Given the description of an element on the screen output the (x, y) to click on. 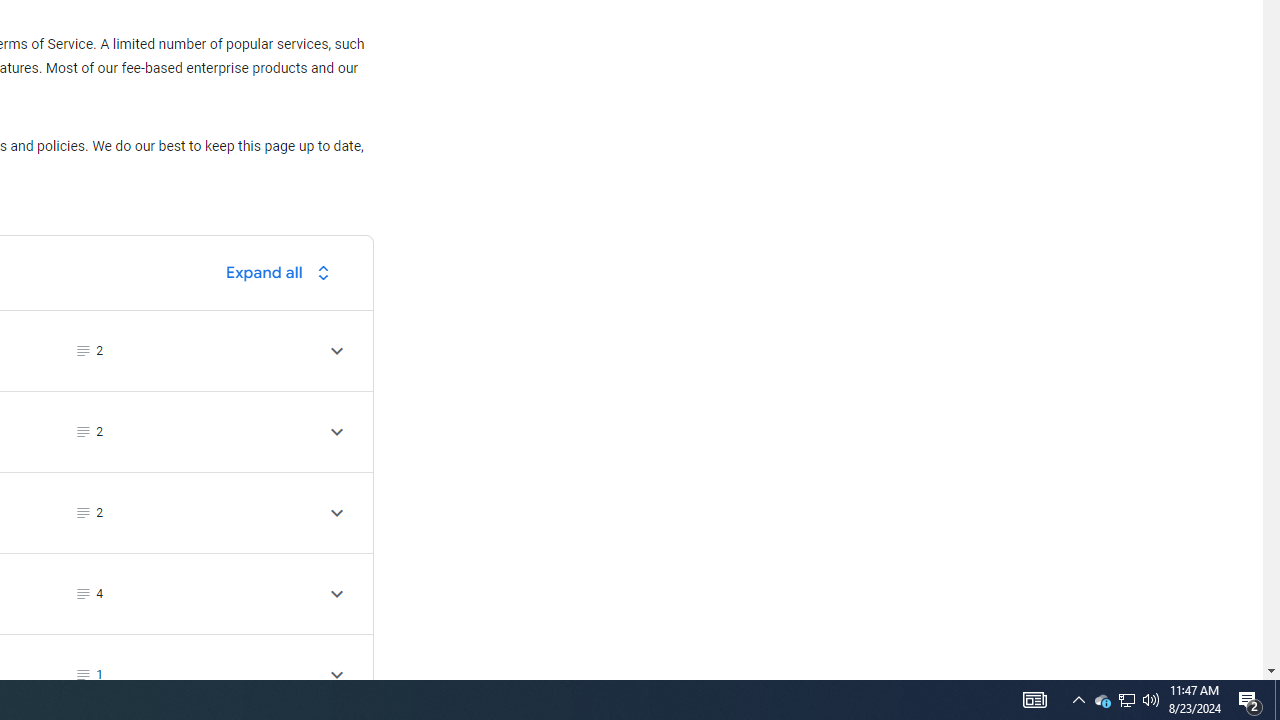
Expand all (283, 272)
